Given the description of an element on the screen output the (x, y) to click on. 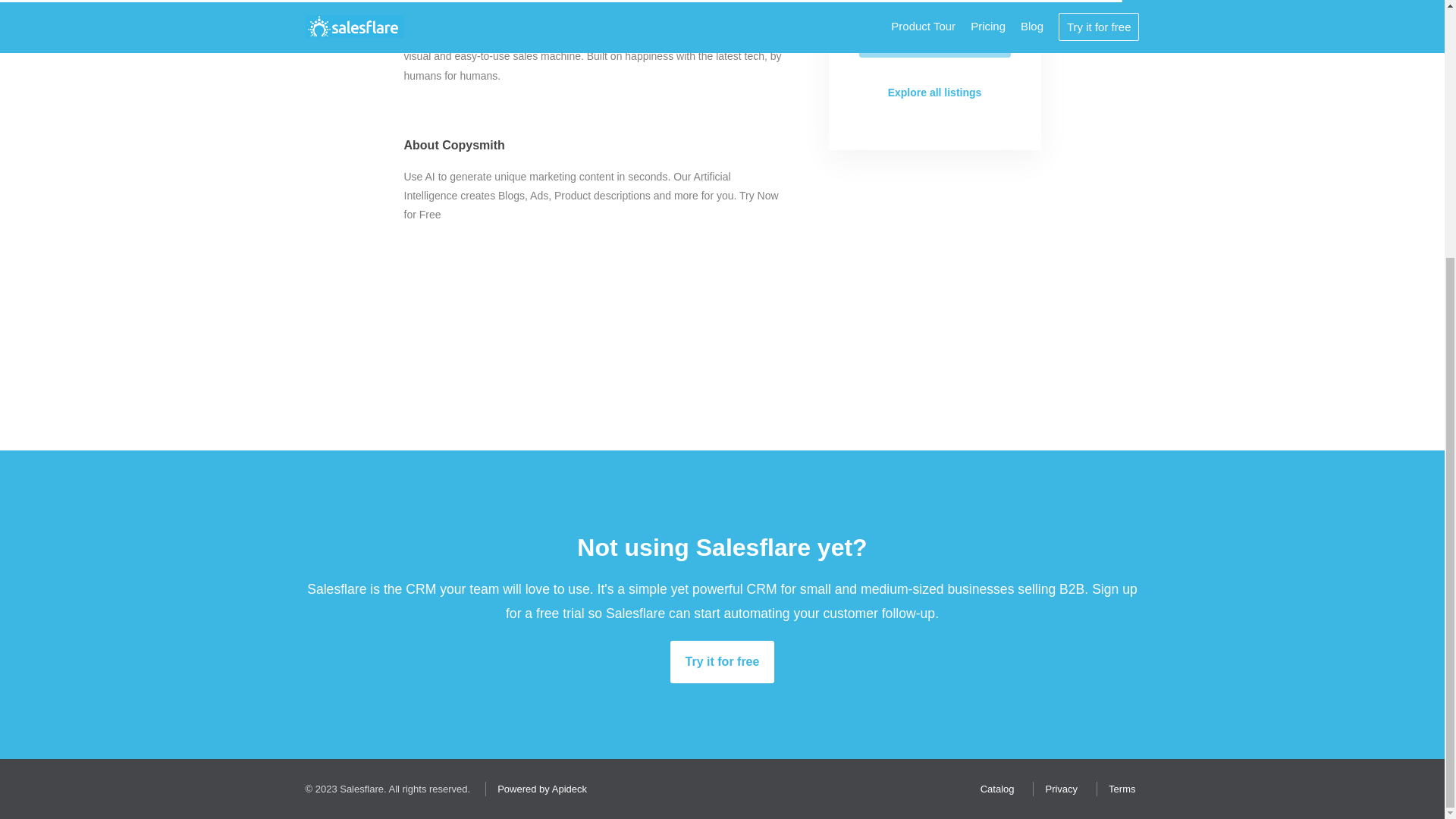
Terms (1117, 789)
Try it for free (721, 661)
Explore all listings (934, 92)
Powered by Apideck (538, 789)
Privacy (1057, 789)
Request this listing (934, 37)
Catalog (993, 789)
